Given the description of an element on the screen output the (x, y) to click on. 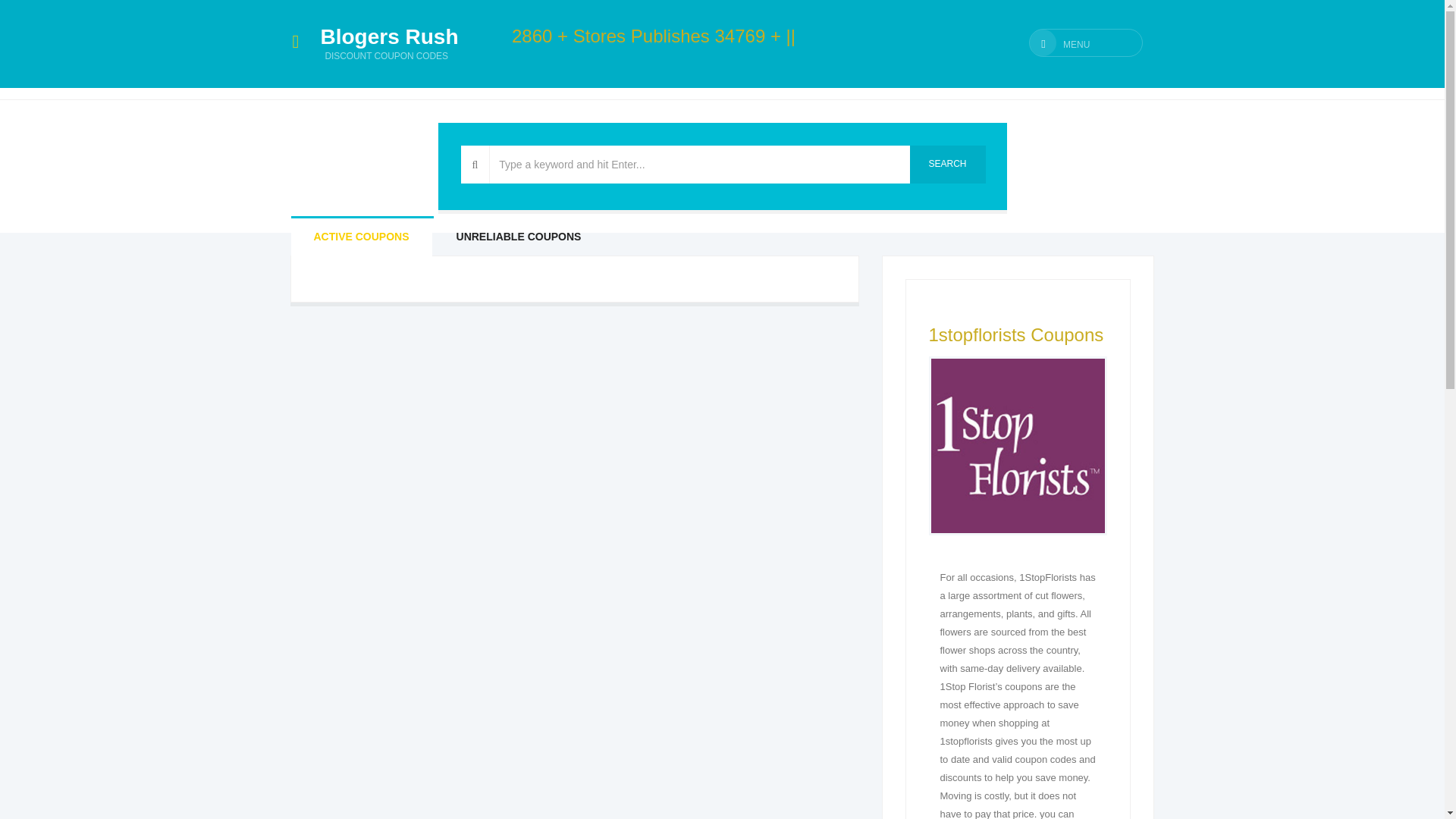
ACTIVE COUPONS (361, 237)
SEARCH (947, 164)
UNRELIABLE COUPONS (518, 237)
